Given the description of an element on the screen output the (x, y) to click on. 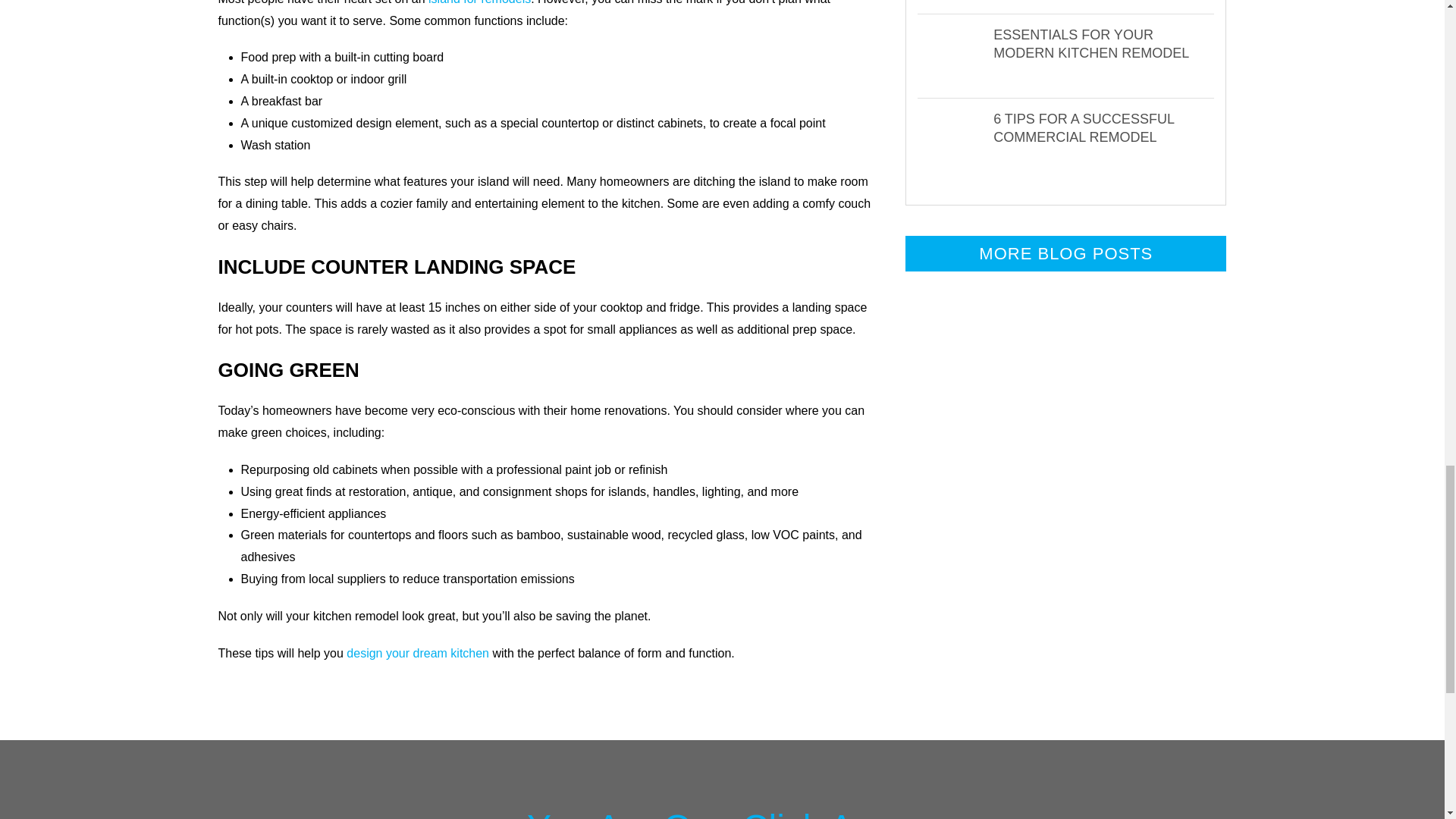
Essentials for Your Modern Kitchen Remodel (954, 55)
design your dream kitchen (417, 653)
6 Tips for a Successful Commercial Remodel (954, 139)
Must-Haves for Your Kansas City Dream Kitchen (954, 1)
ESSENTIALS FOR YOUR MODERN KITCHEN REMODEL (1090, 43)
island for remodels (479, 2)
